Given the description of an element on the screen output the (x, y) to click on. 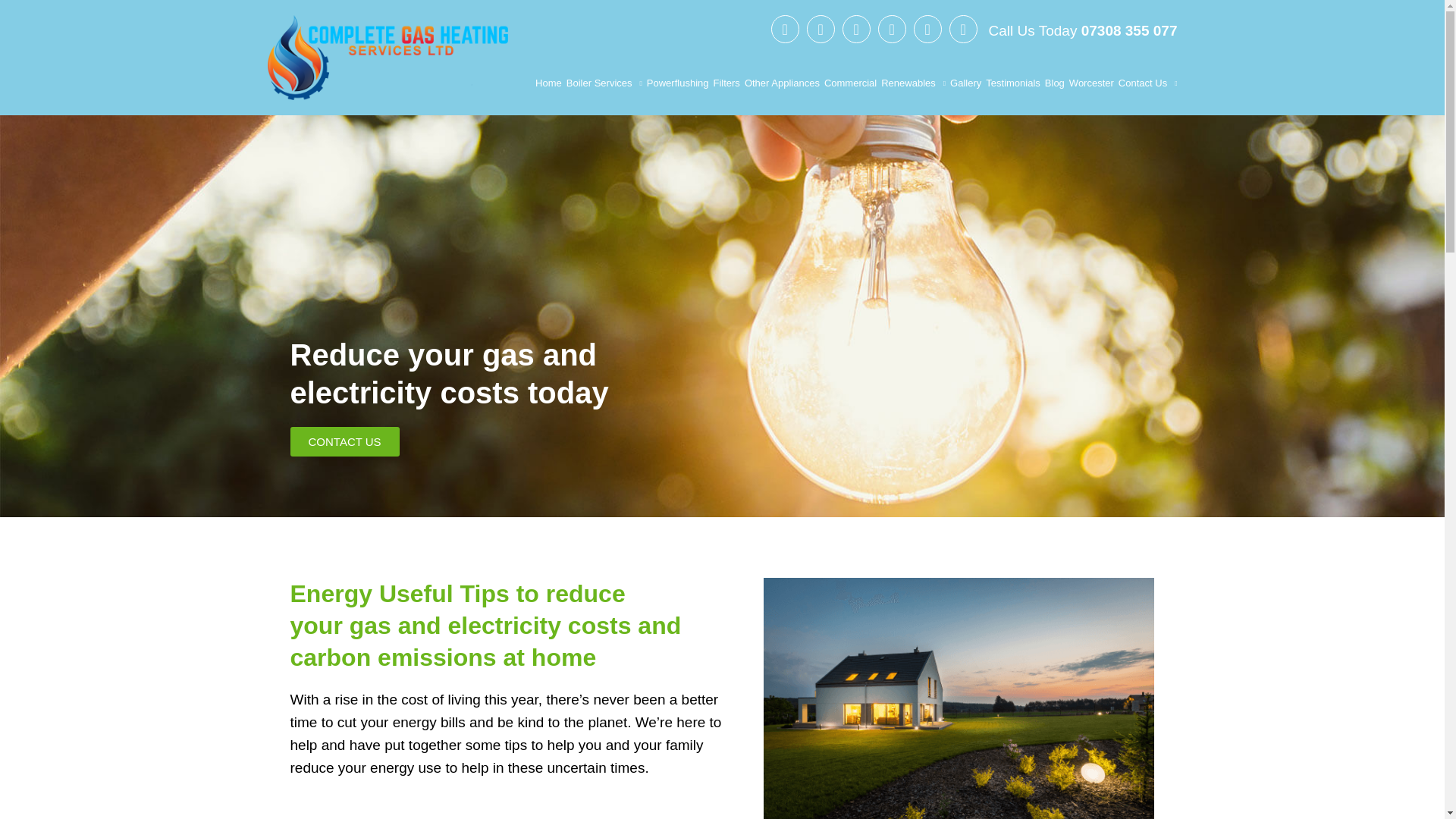
Other Appliances (781, 83)
Contact Us (1147, 83)
Worcester (1090, 83)
Powerflushing (677, 83)
Commercial (850, 83)
Renewables (912, 83)
Filters (726, 83)
Blog (1054, 83)
Testimonials (1013, 83)
Boiler Services (604, 83)
Call Us Today 07308 355 077 (1081, 28)
Home (548, 83)
Gallery (965, 83)
